Given the description of an element on the screen output the (x, y) to click on. 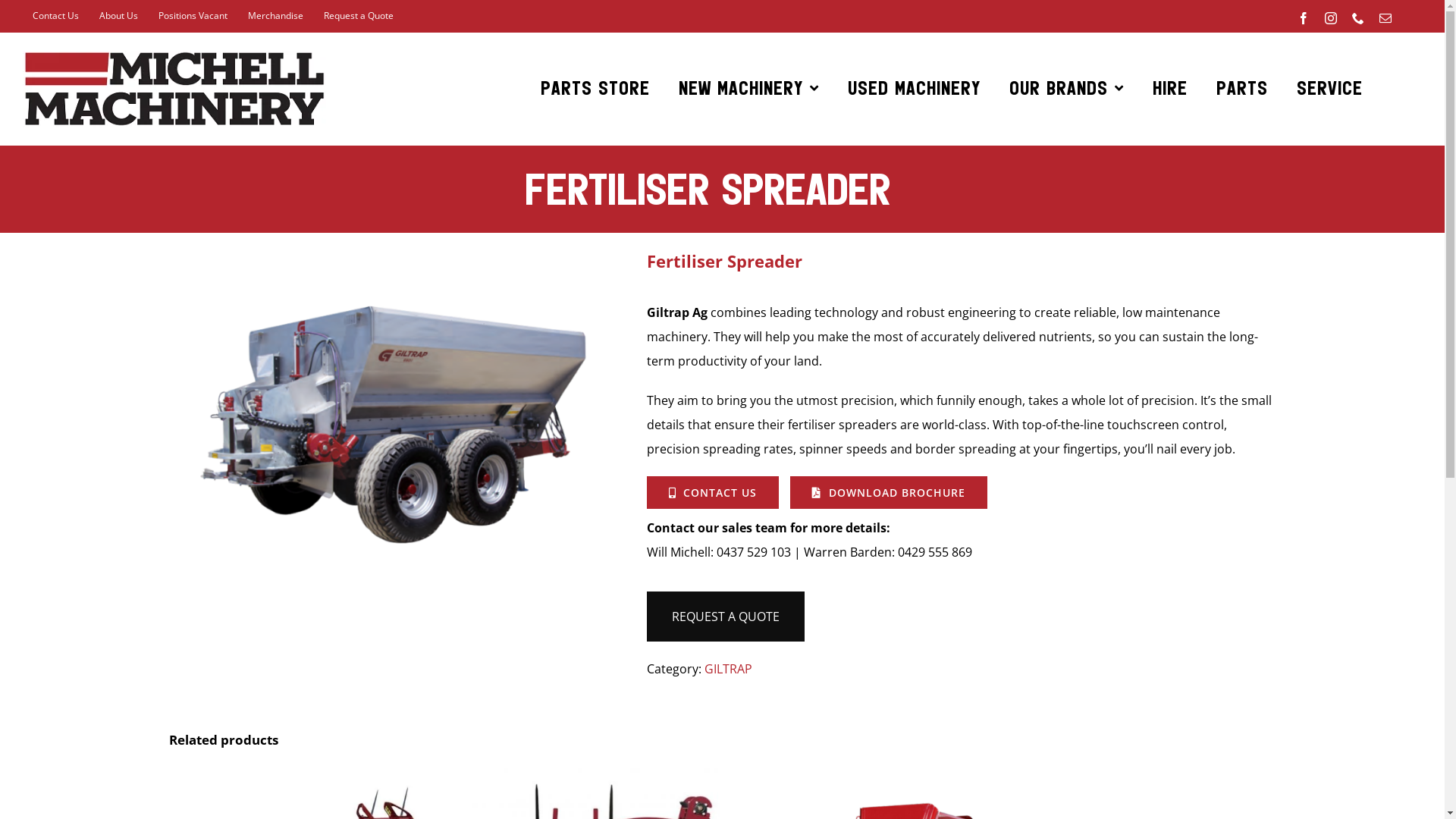
Spreader - website Element type: hover (395, 422)
Email Element type: text (1385, 18)
Instagram Element type: text (1330, 18)
CONTACT US Element type: text (712, 492)
REQUEST A QUOTE Element type: text (724, 616)
HIRE Element type: text (1169, 88)
DOWNLOAD BROCHURE Element type: text (888, 492)
OUR BRANDS Element type: text (1066, 88)
Request a Quote Element type: text (358, 15)
Phone Element type: text (1358, 18)
About Us Element type: text (118, 15)
Merchandise Element type: text (275, 15)
Positions Vacant Element type: text (192, 15)
PARTS STORE Element type: text (594, 88)
NEW MACHINERY Element type: text (748, 88)
SERVICE Element type: text (1329, 88)
PARTS Element type: text (1241, 88)
Contact Us Element type: text (55, 15)
GILTRAP Element type: text (727, 668)
Facebook Element type: text (1303, 18)
USED MACHINERY Element type: text (913, 88)
